Given the description of an element on the screen output the (x, y) to click on. 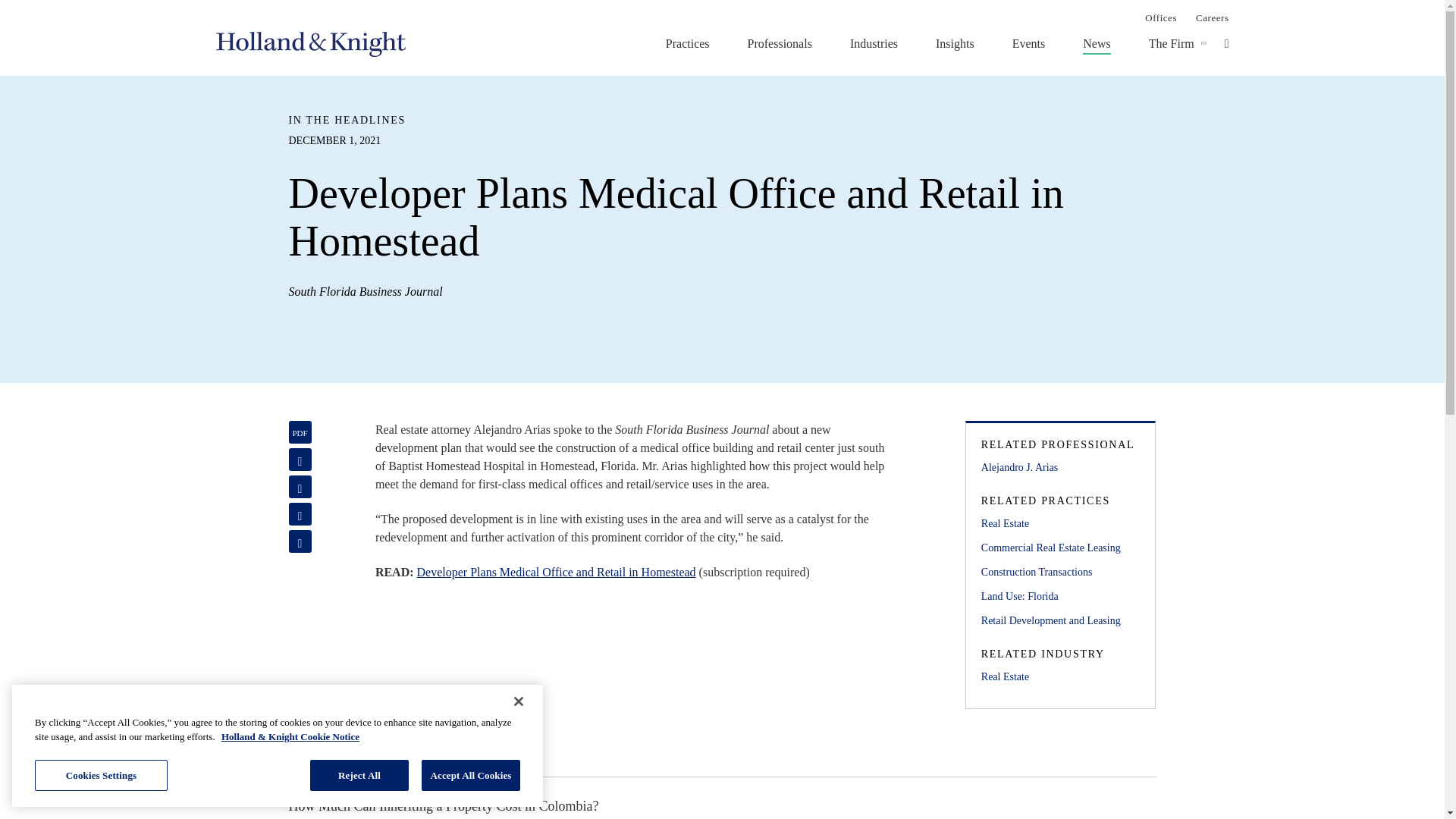
Professionals (780, 42)
Industries (874, 42)
The Firm (1170, 43)
Commercial Real Estate Leasing (1060, 547)
Alejandro J. Arias (1060, 467)
Practices (687, 42)
Offices (1160, 16)
Insights (955, 42)
Developer Plans Medical Office and Retail in Homestead (555, 571)
Careers (1211, 16)
